Given the description of an element on the screen output the (x, y) to click on. 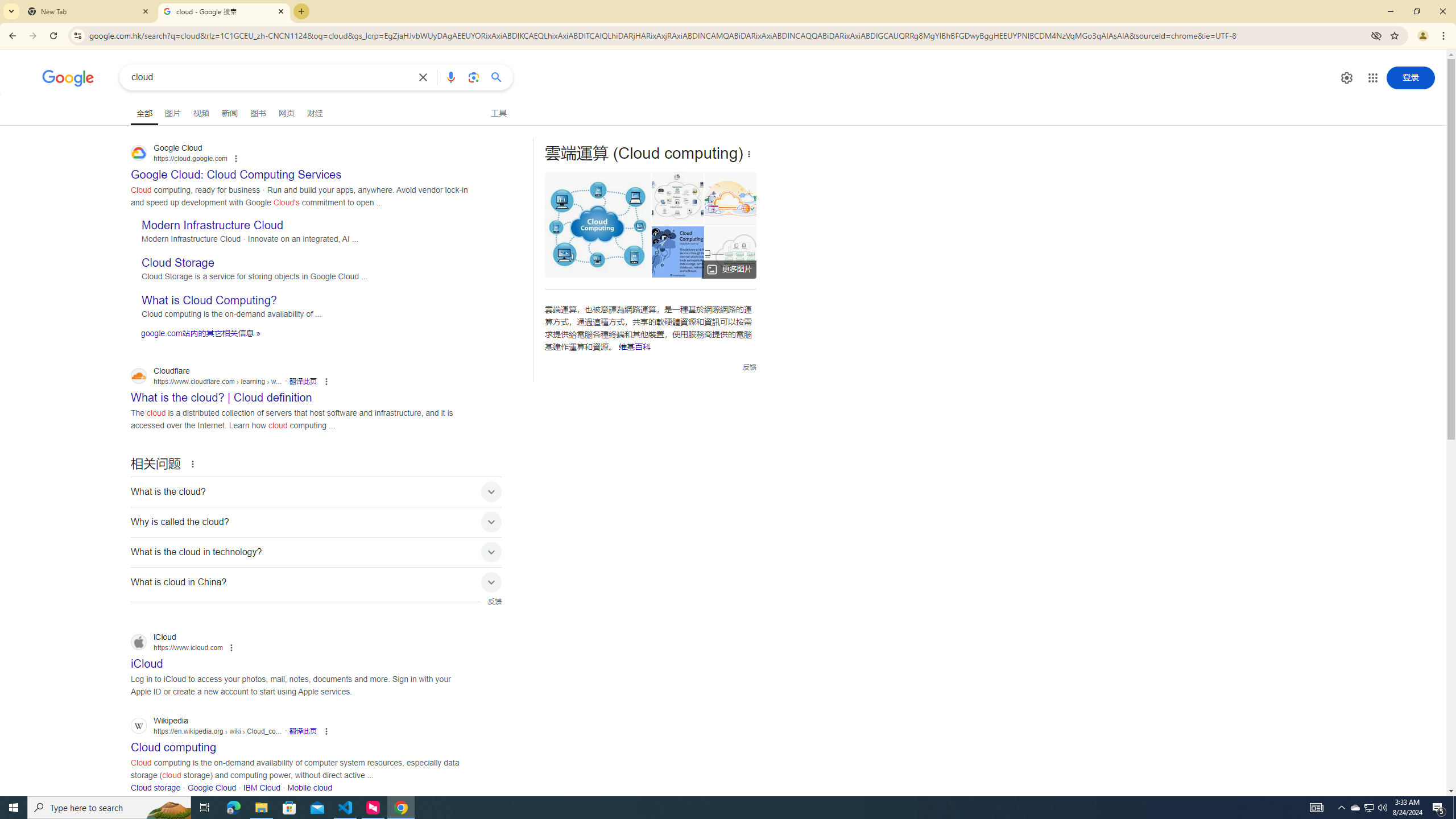
Mobile cloud (309, 787)
Connectivity Cloud | Cloudflare (730, 198)
Google (68, 78)
Cloud storage (155, 787)
What is Cloud Computing? (208, 300)
